Given the description of an element on the screen output the (x, y) to click on. 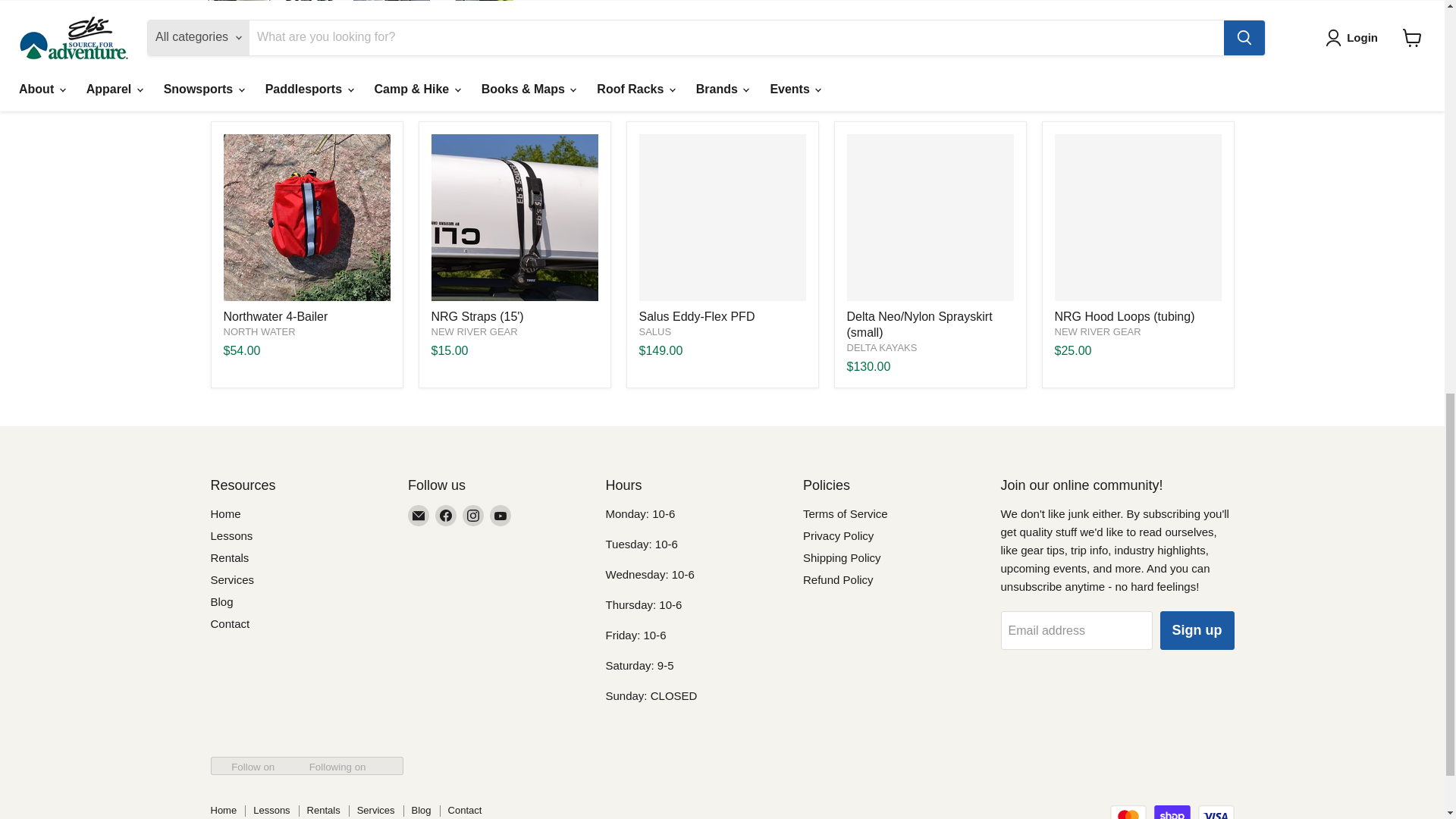
Email (418, 515)
NEW RIVER GEAR (1097, 331)
SALUS (655, 331)
NEW RIVER GEAR (473, 331)
DELTA KAYAKS (881, 347)
NORTH WATER (258, 331)
